Given the description of an element on the screen output the (x, y) to click on. 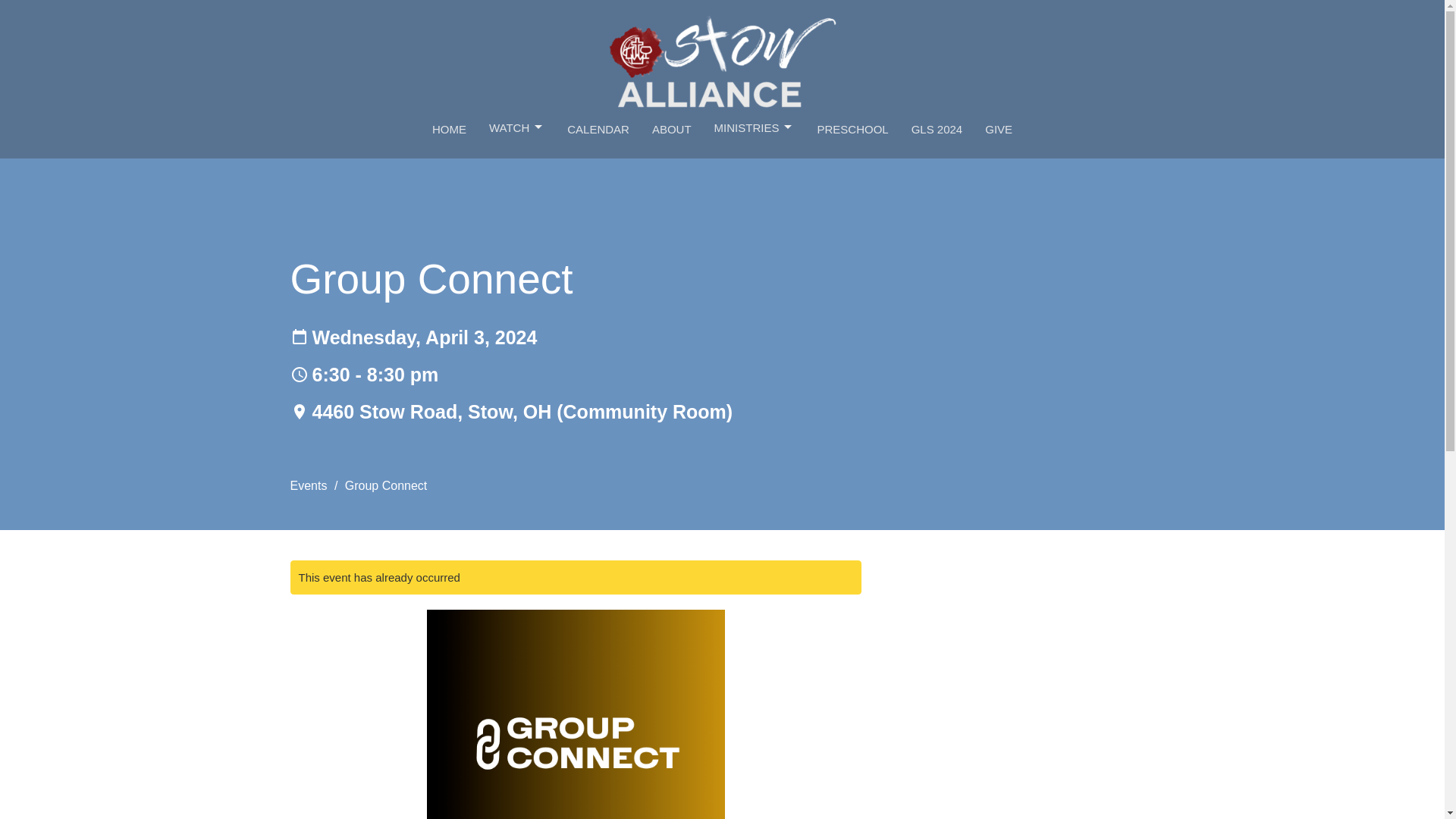
ABOUT (671, 129)
GIVE (998, 129)
MINISTRIES (754, 127)
PRESCHOOL (852, 129)
CALENDAR (597, 129)
Events (307, 485)
GLS 2024 (936, 129)
HOME (448, 129)
WATCH (516, 127)
